Given the description of an element on the screen output the (x, y) to click on. 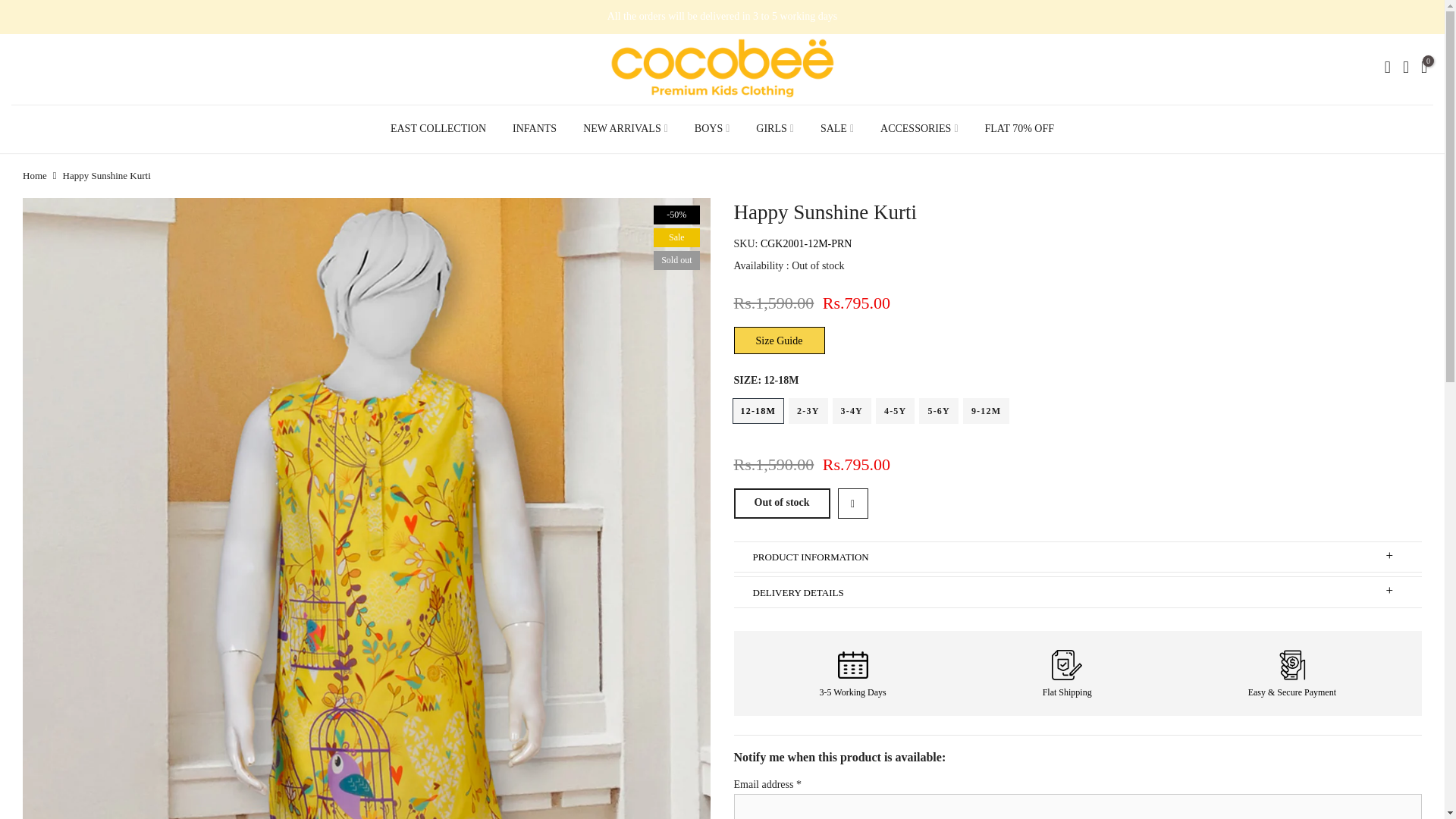
ACCESSORIES (919, 129)
BOYS (711, 129)
GIRLS (775, 129)
NEW ARRIVALS (625, 129)
SALE (836, 129)
EAST COLLECTION (438, 129)
INFANTS (534, 129)
